Given the description of an element on the screen output the (x, y) to click on. 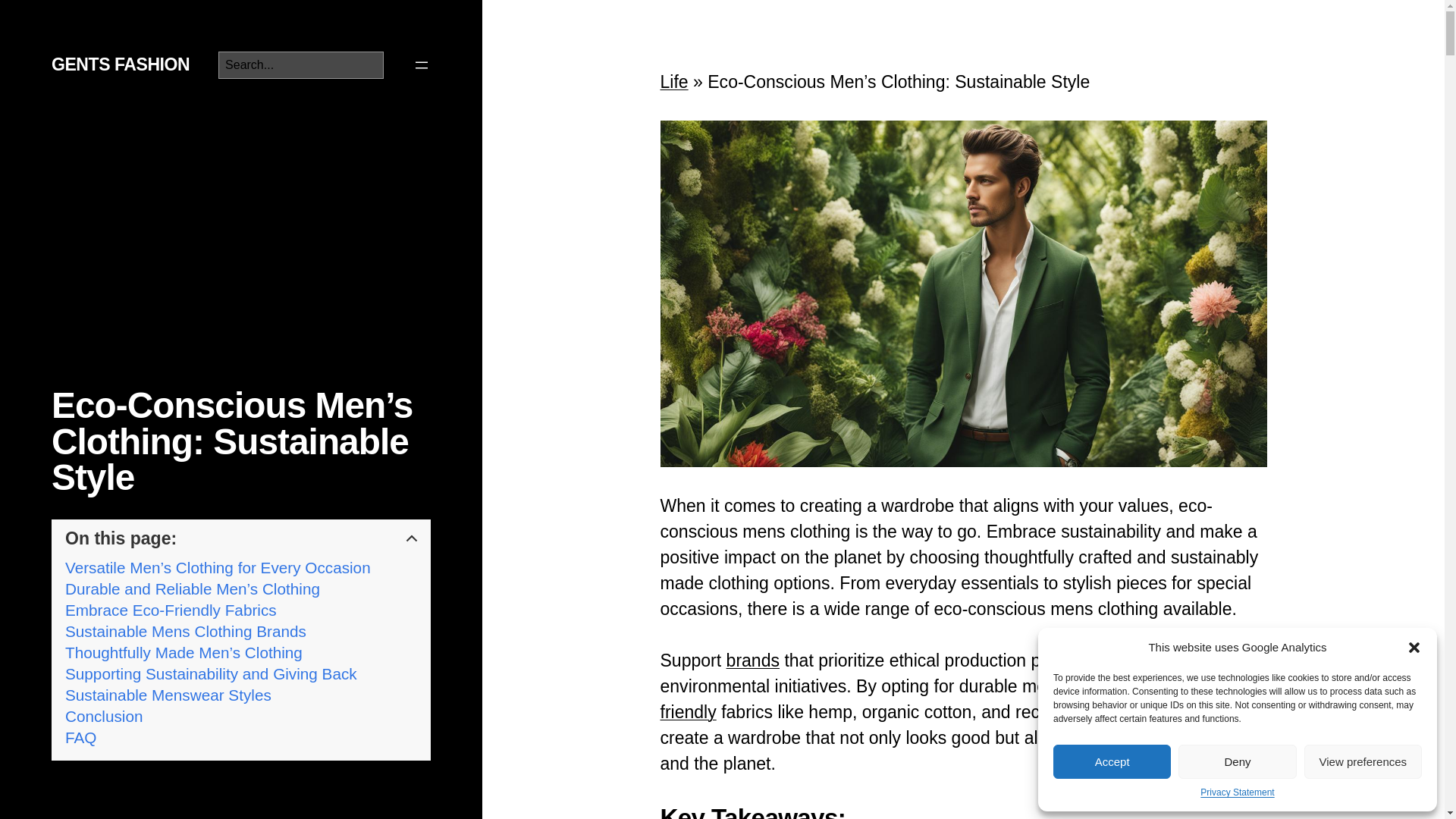
Sustainable Menswear Styles (167, 695)
eco-friendly (959, 698)
FAQ (80, 737)
Privacy Statement (1236, 793)
Conclusion (103, 716)
Supporting Sustainability and Giving Back (210, 674)
eco-friendly (959, 698)
Sustainable Mens Clothing Brands (185, 631)
FAQ (80, 737)
Sustainable Mens Clothing Brands (185, 631)
